Given the description of an element on the screen output the (x, y) to click on. 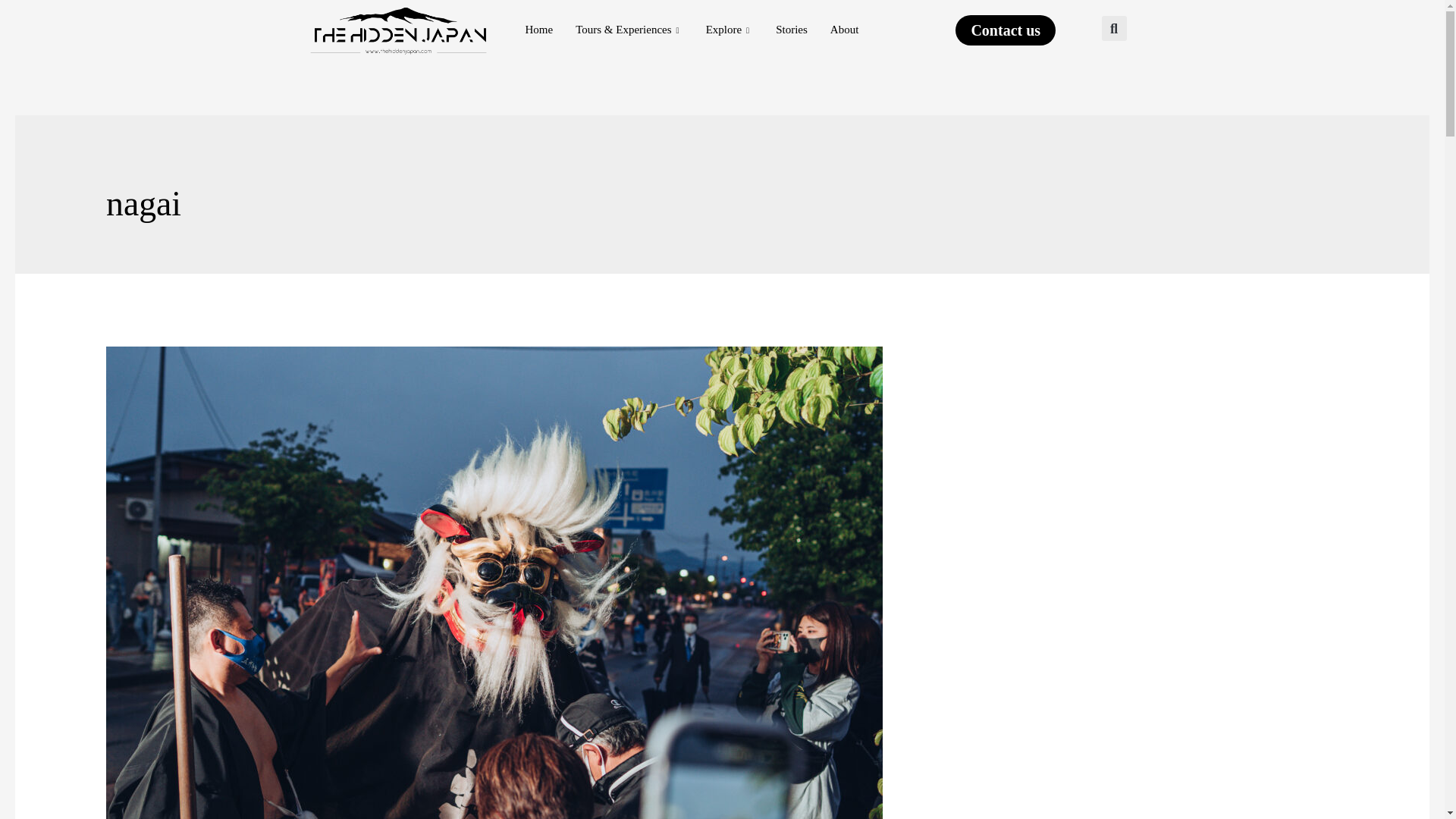
Contact us (1005, 30)
Explore (729, 30)
Stories (791, 30)
